Given the description of an element on the screen output the (x, y) to click on. 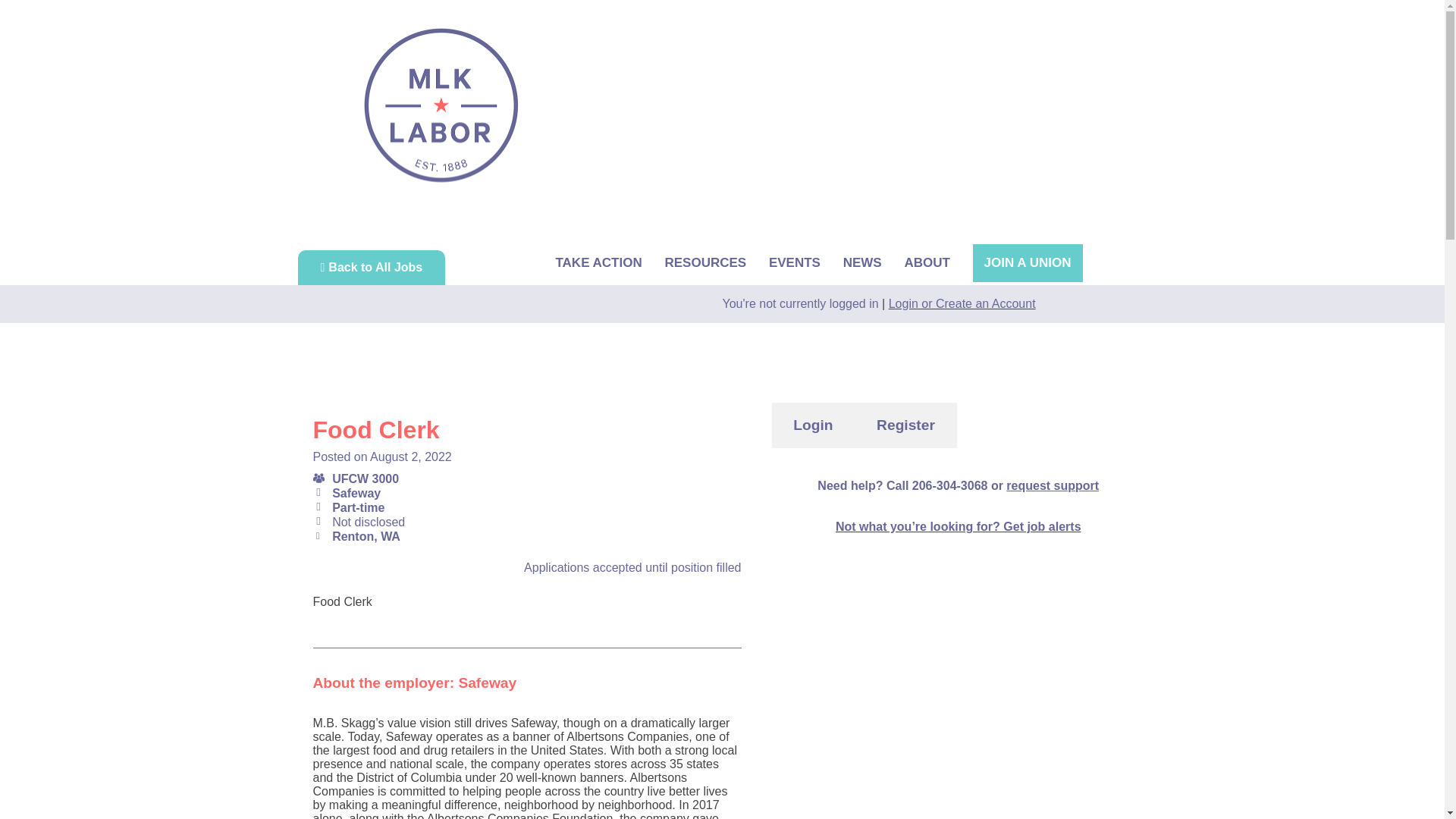
RESOURCES (704, 262)
NEWS (862, 262)
JOIN A UNION (1027, 262)
TAKE ACTION (598, 262)
ABOUT (926, 262)
EVENTS (794, 262)
Home (440, 104)
